Given the description of an element on the screen output the (x, y) to click on. 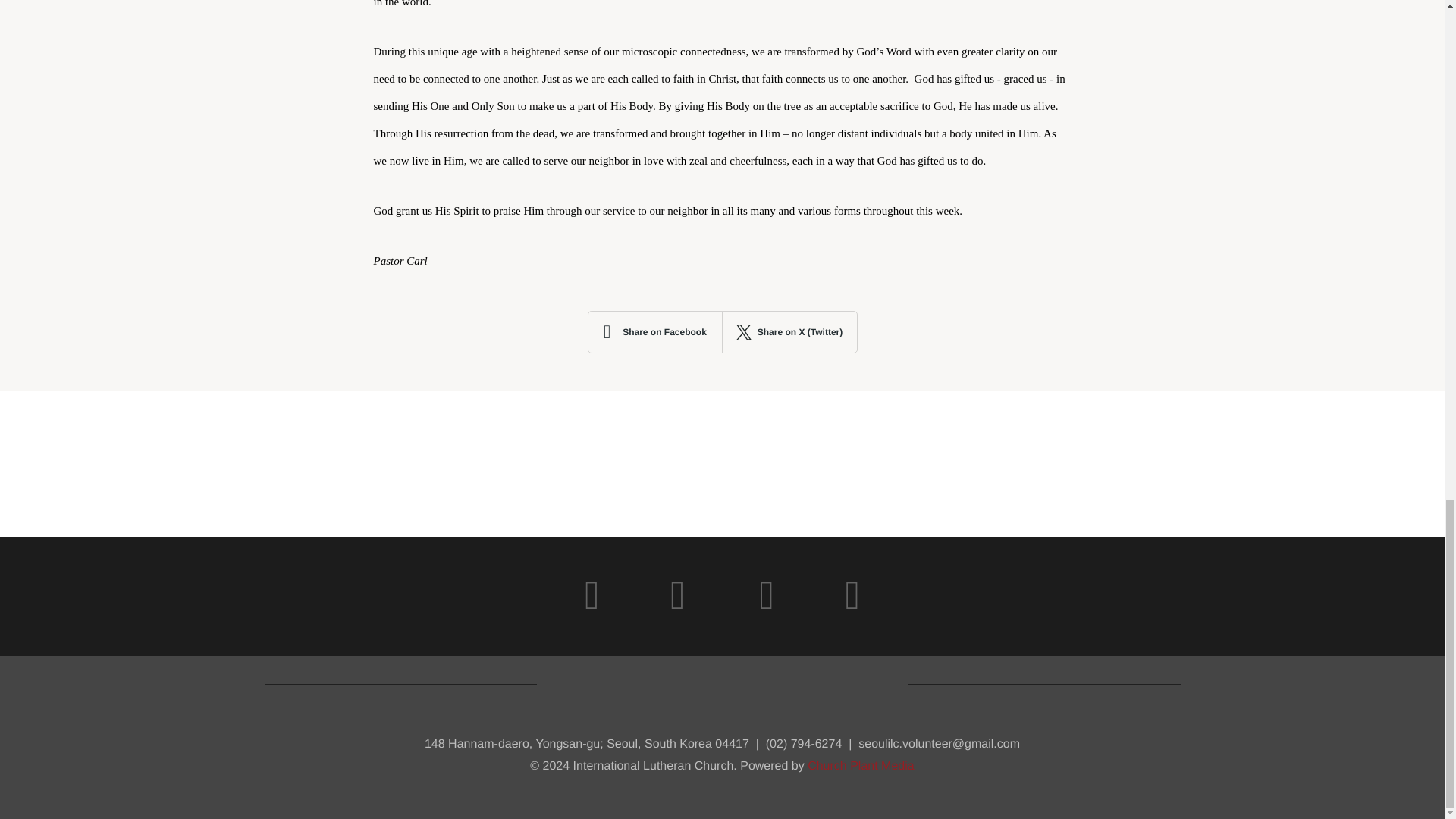
mail (677, 596)
youtube (852, 596)
facebook (766, 596)
instagram (591, 596)
